Given the description of an element on the screen output the (x, y) to click on. 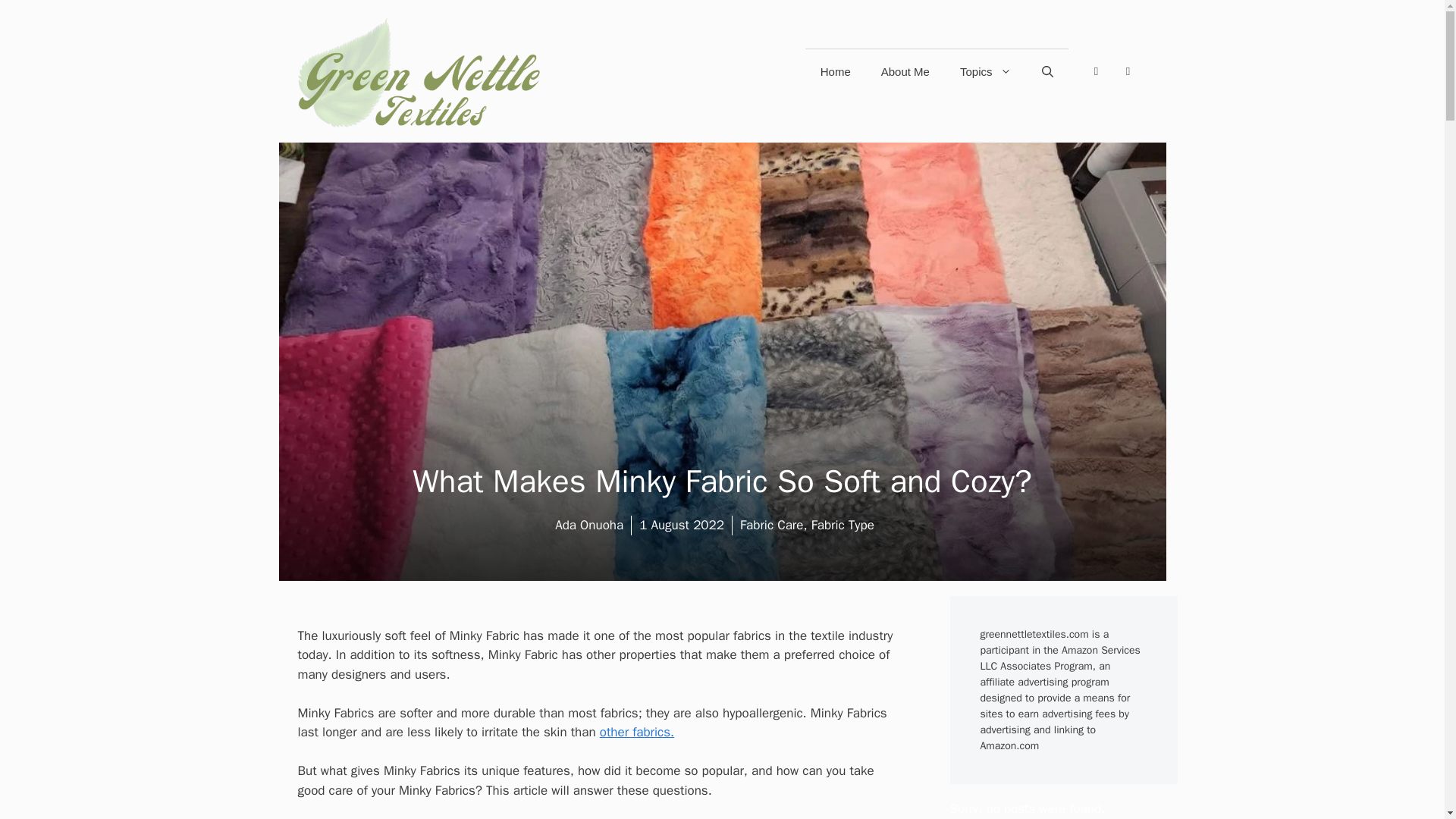
Green Nettle Textiles (418, 70)
About Me (905, 72)
Facebook (1095, 71)
Home (835, 72)
Topics (985, 72)
other fabrics. (636, 731)
Twitter (1127, 71)
Green Nettle Textiles (418, 71)
